Given the description of an element on the screen output the (x, y) to click on. 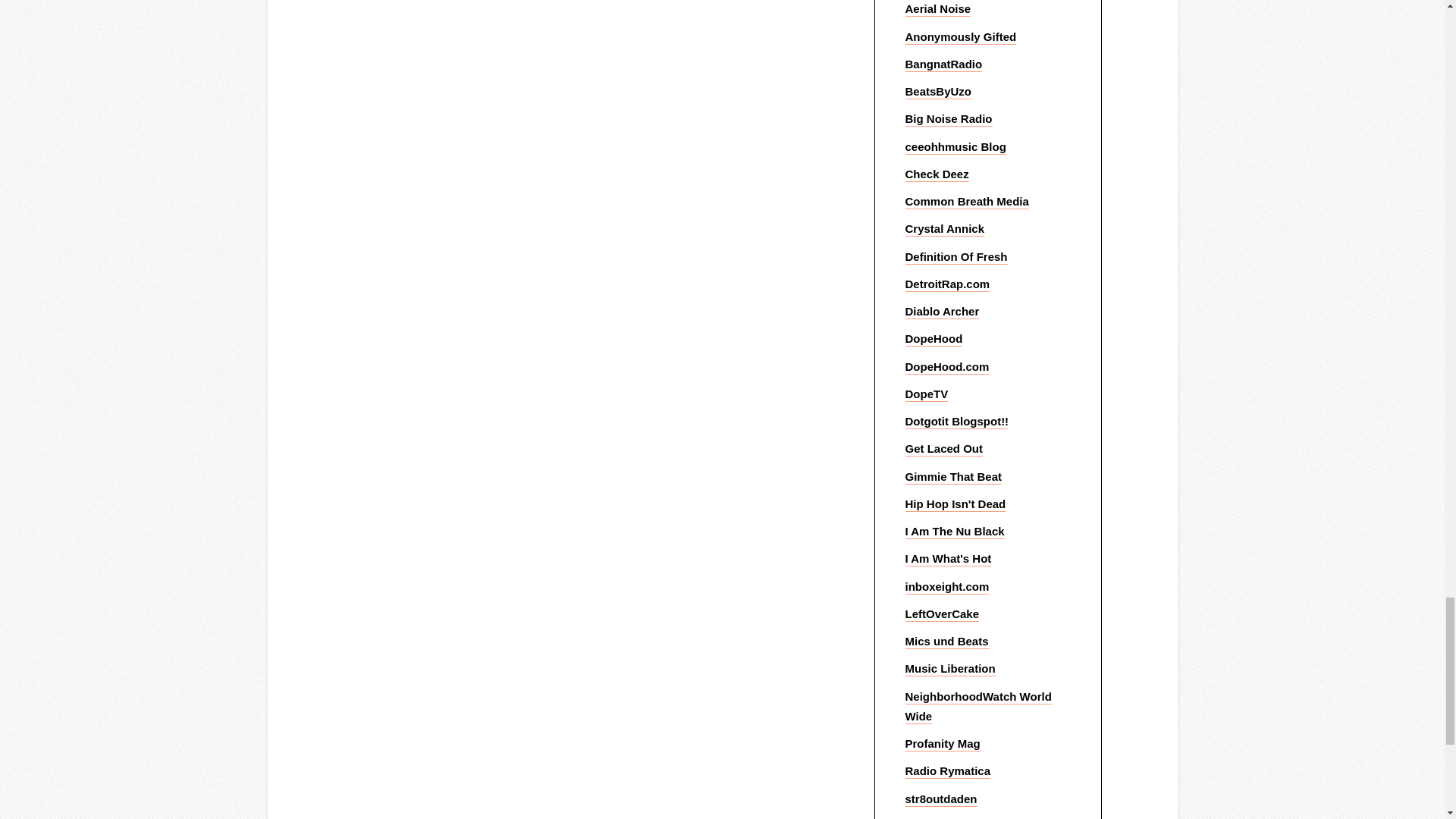
Diablo Archer (942, 311)
313 (947, 284)
the Art of DJing (937, 174)
Hip Hop Blog (955, 147)
Dotgotit Blogspot!! (957, 421)
